Given the description of an element on the screen output the (x, y) to click on. 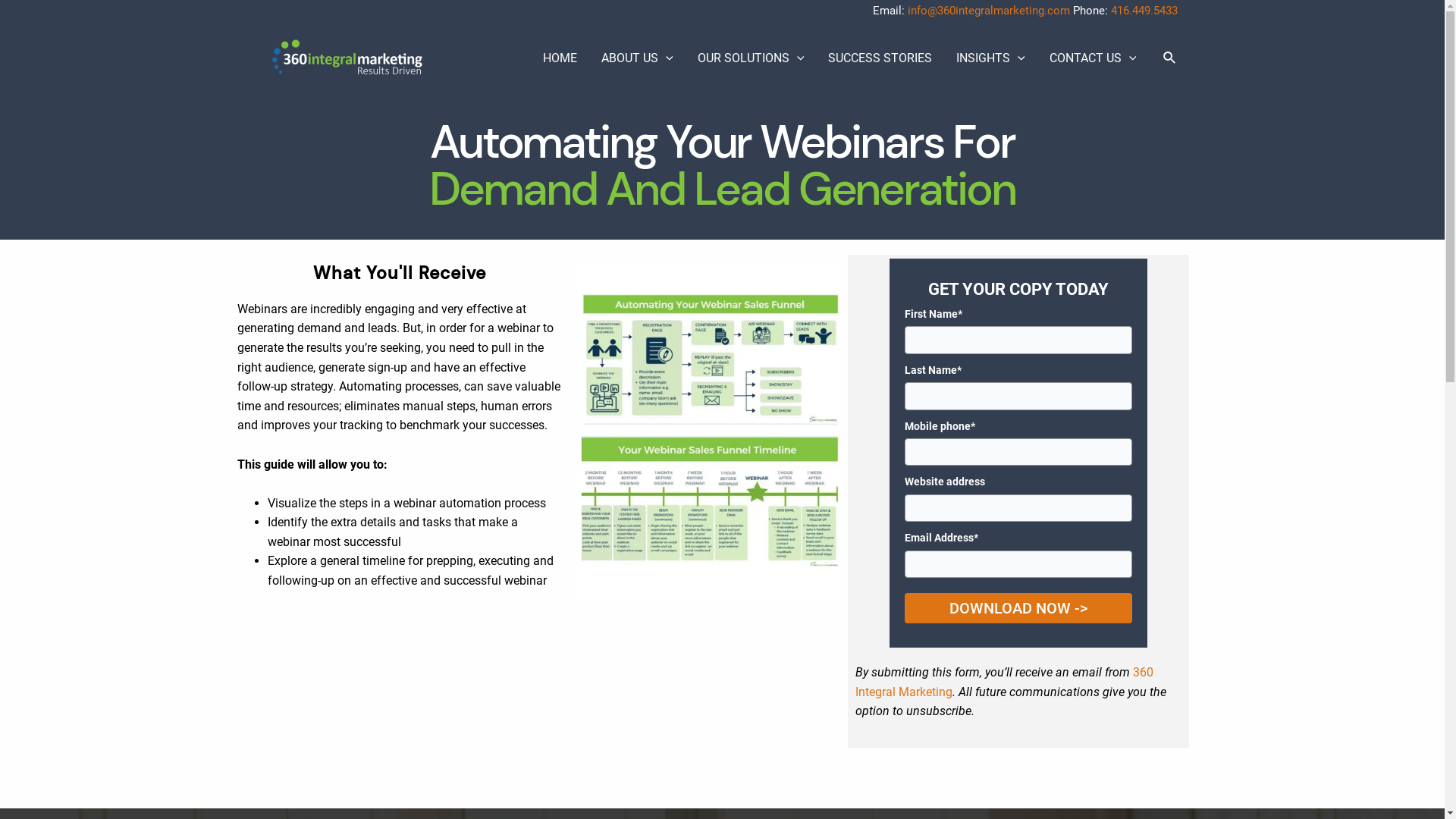
360 Integral Marketing Element type: text (1004, 682)
DOWNLOAD NOW -> Element type: text (1018, 608)
ABOUT US Element type: text (637, 58)
Search Element type: text (1169, 57)
CONTACT US Element type: text (1092, 58)
HOME Element type: text (559, 58)
OUR SOLUTIONS Element type: text (750, 58)
416.449.5433 Element type: text (1143, 10)
INSIGHTS Element type: text (990, 58)
info@360integralmarketing.com Element type: text (987, 10)
SUCCESS STORIES Element type: text (879, 58)
